Given the description of an element on the screen output the (x, y) to click on. 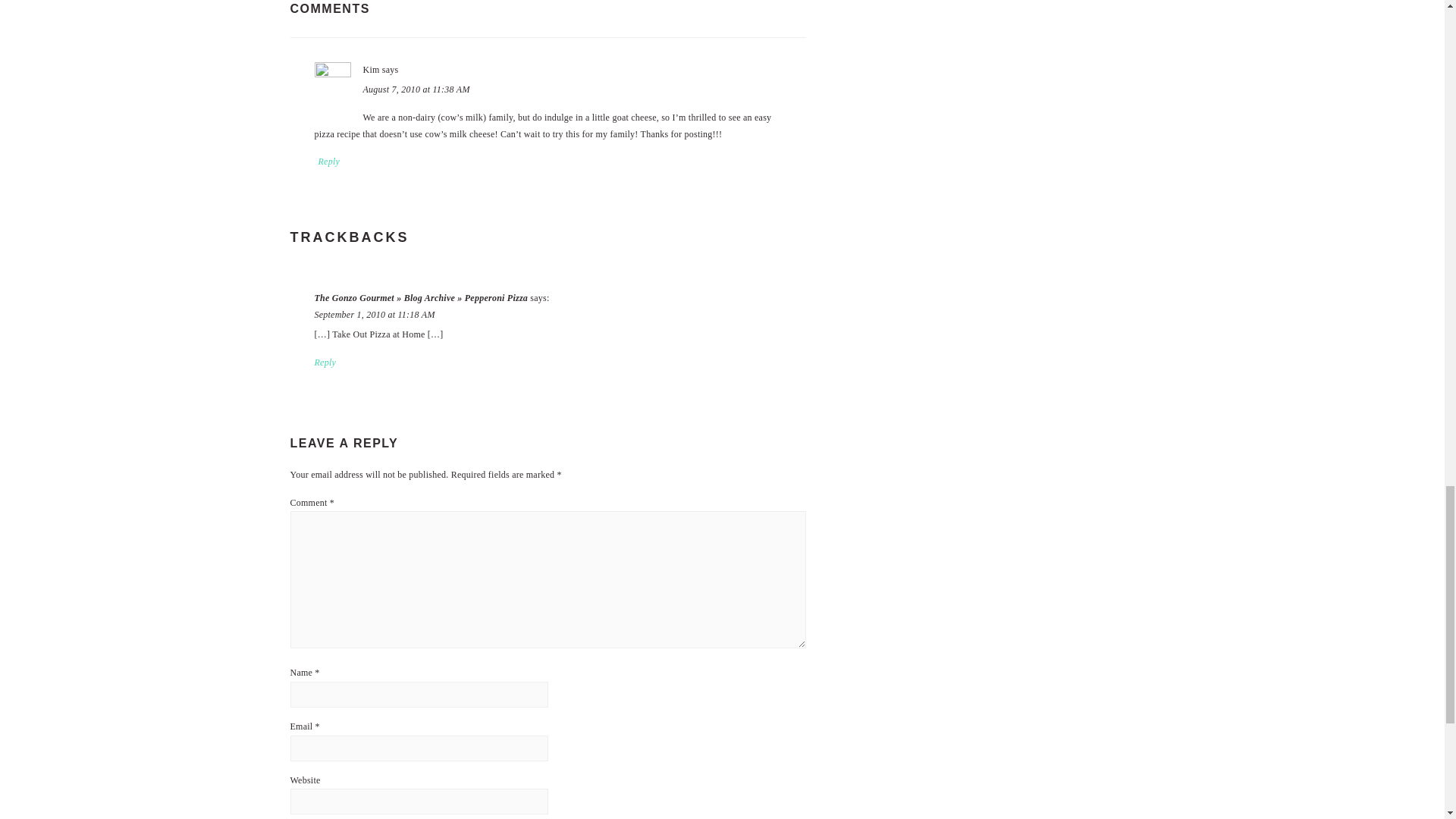
September 1, 2010 at 11:18 AM (373, 314)
Reply (325, 362)
Reply (328, 161)
August 7, 2010 at 11:38 AM (415, 89)
